Given the description of an element on the screen output the (x, y) to click on. 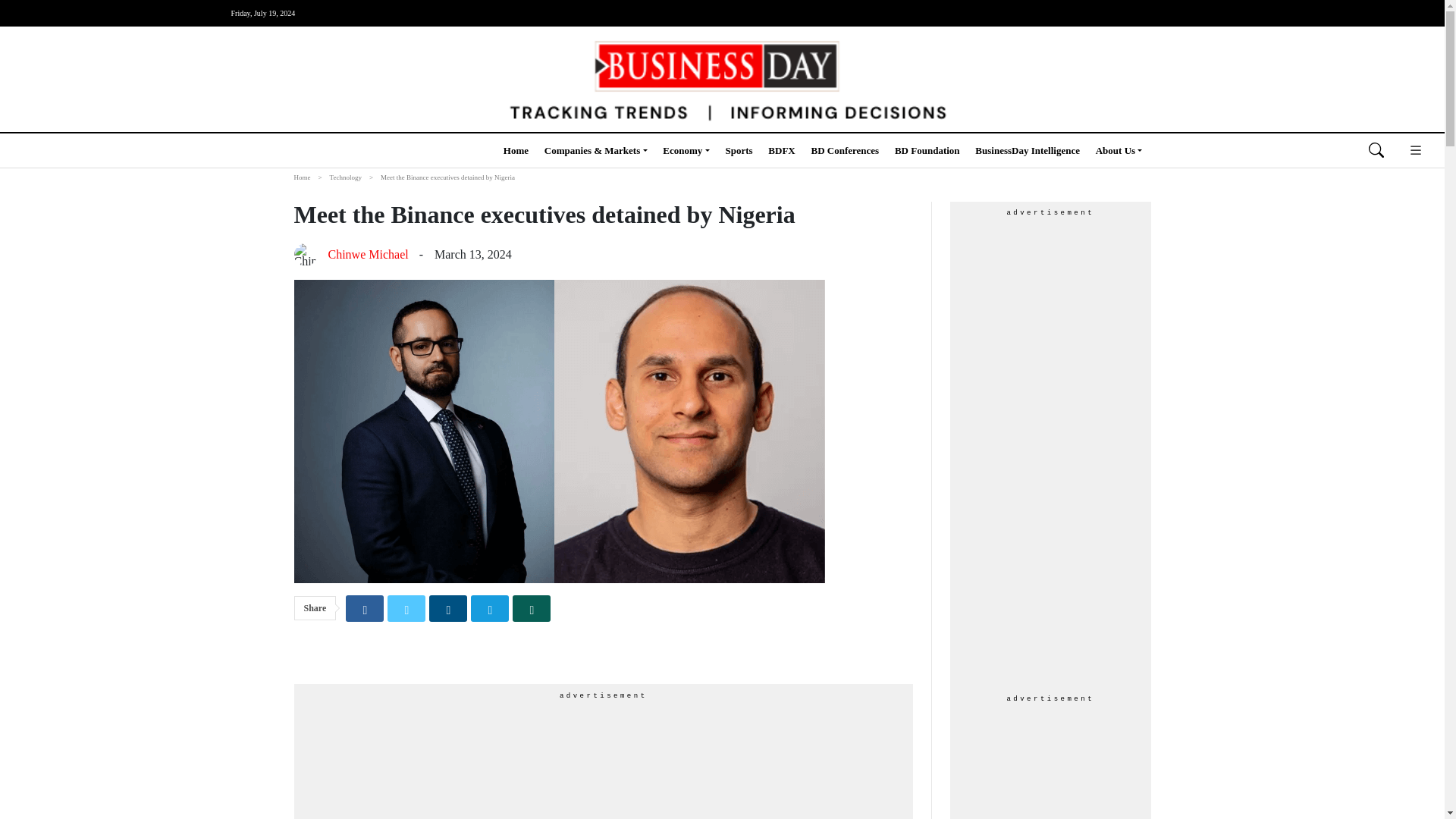
Economy (685, 149)
BD Foundation (927, 149)
BusinessDay Intelligence (1027, 149)
About Us (1119, 149)
About Us (1119, 149)
BD Conferences (844, 149)
BusinessDay Intelligence (1027, 149)
BD Foundation (927, 149)
Economy (685, 149)
BD Conferences (844, 149)
